Given the description of an element on the screen output the (x, y) to click on. 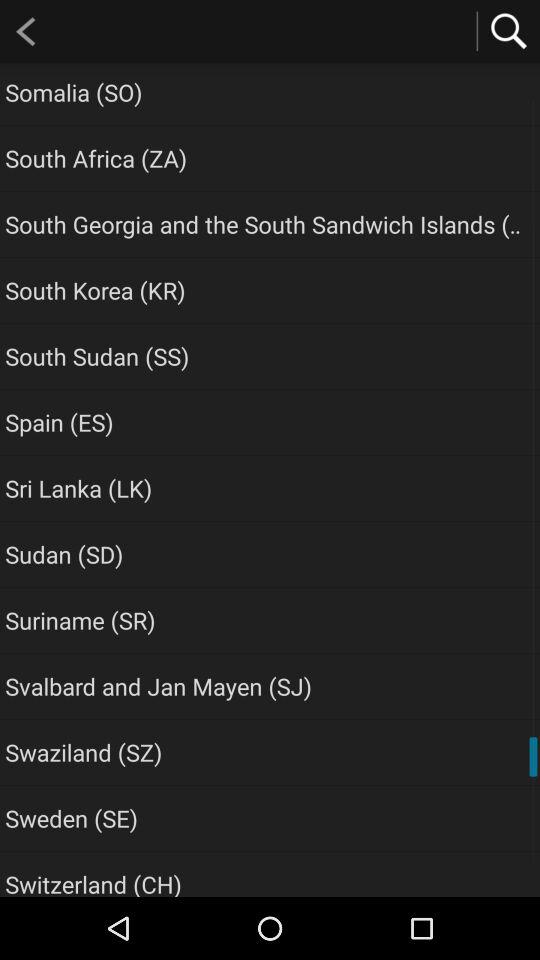
tap the icon above the south africa (za) icon (73, 92)
